Given the description of an element on the screen output the (x, y) to click on. 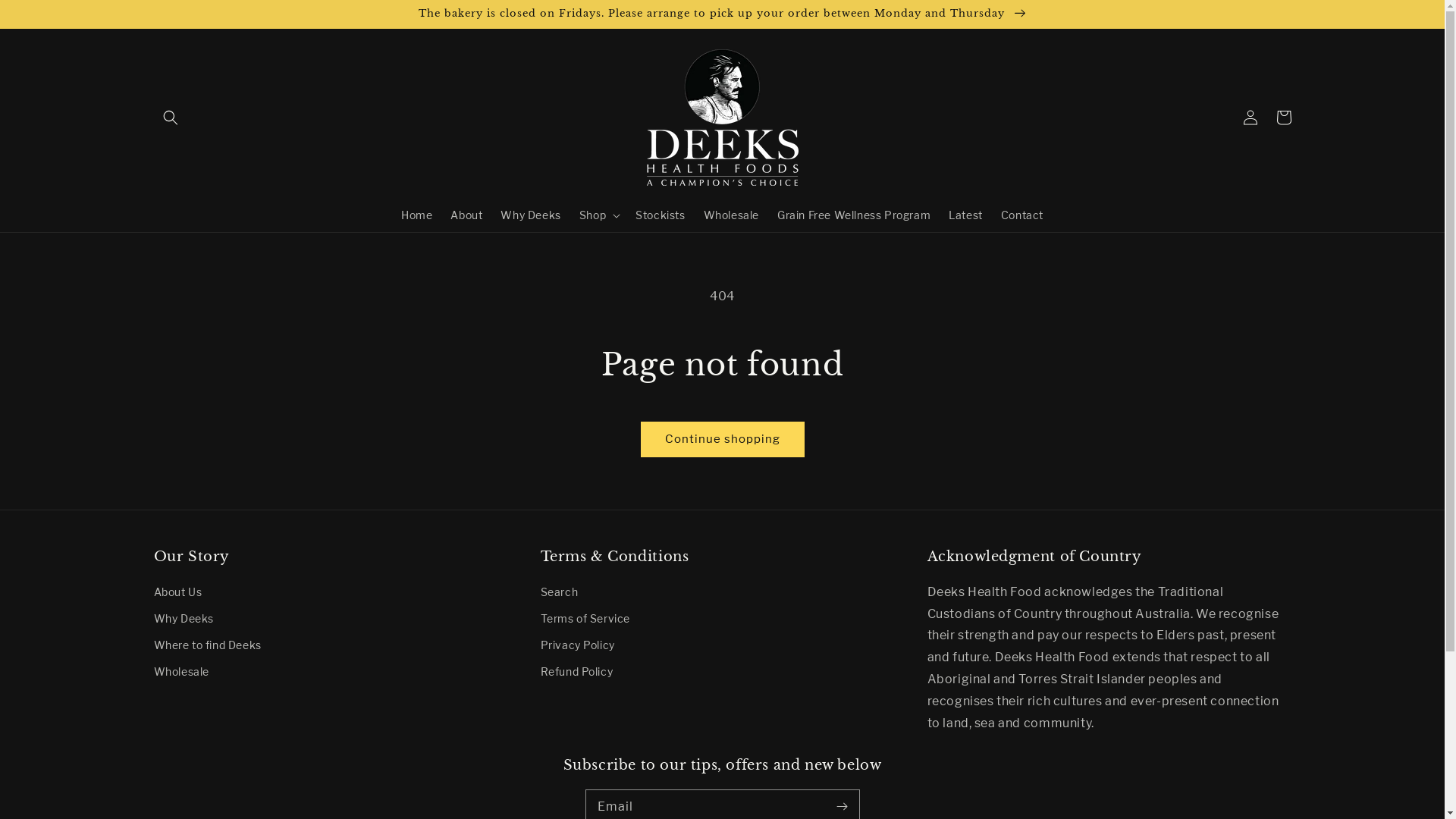
Latest Element type: text (965, 215)
Home Element type: text (416, 215)
Contact Element type: text (1021, 215)
Why Deeks Element type: text (183, 618)
Where to find Deeks Element type: text (206, 644)
Refund Policy Element type: text (575, 671)
Terms of Service Element type: text (584, 618)
Stockists Element type: text (659, 215)
Why Deeks Element type: text (530, 215)
Search Element type: text (558, 593)
Log in Element type: text (1249, 117)
Wholesale Element type: text (731, 215)
About Element type: text (466, 215)
Privacy Policy Element type: text (576, 644)
Grain Free Wellness Program Element type: text (853, 215)
Wholesale Element type: text (180, 671)
About Us Element type: text (177, 593)
Continue shopping Element type: text (722, 439)
Cart Element type: text (1282, 117)
